Given the description of an element on the screen output the (x, y) to click on. 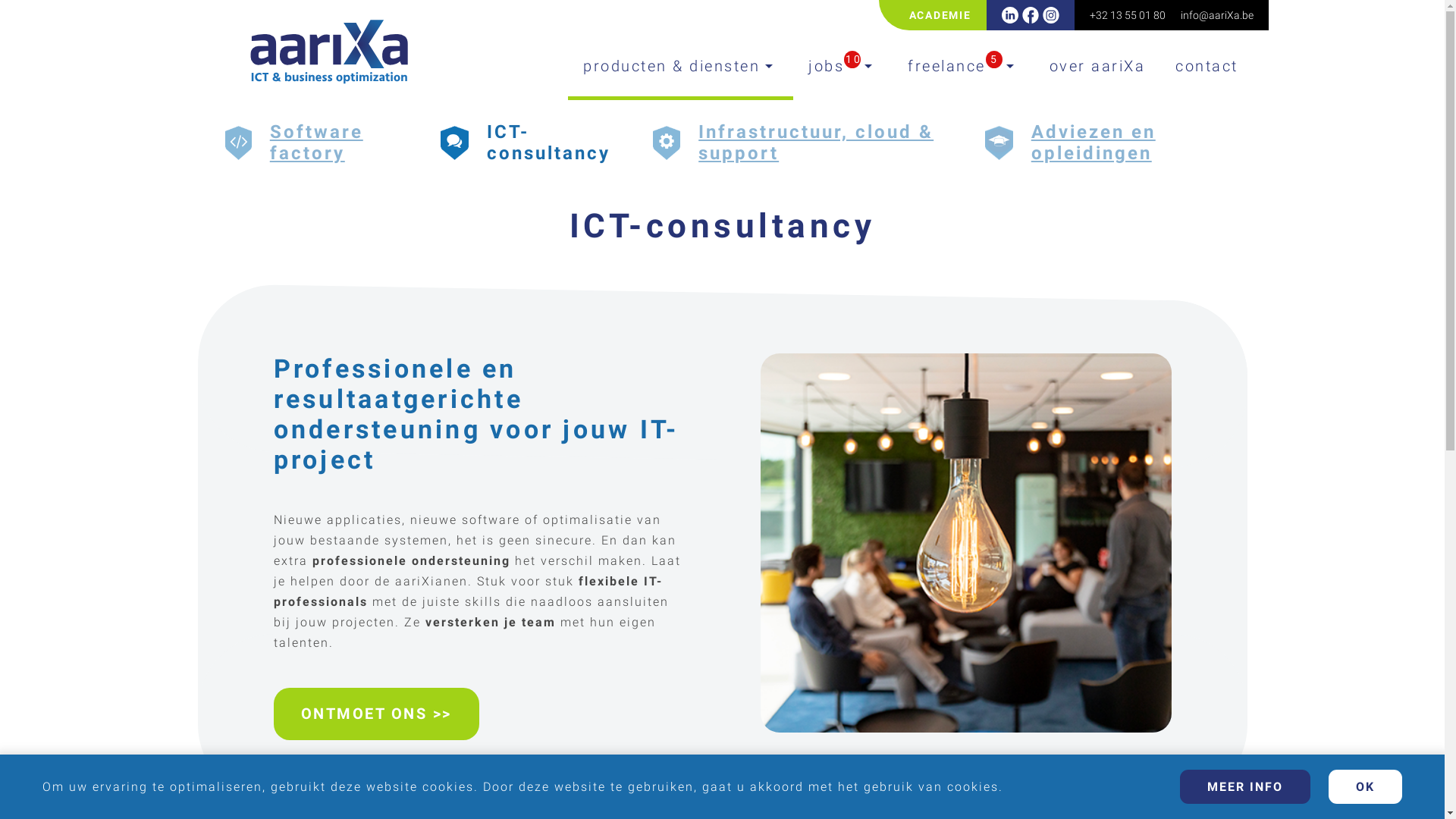
ICT-consultancy Element type: text (548, 142)
+32 13 55 01 80 Element type: text (1126, 15)
info@aariXa.be Element type: text (1215, 15)
over aariXa Element type: text (1097, 67)
Infrastructuur, cloud & support Element type: text (820, 142)
contact Element type: text (1206, 67)
Software factory Element type: text (333, 142)
Adviezen en opleidingen Element type: text (1125, 142)
ACADEMIE Element type: text (939, 15)
